Given the description of an element on the screen output the (x, y) to click on. 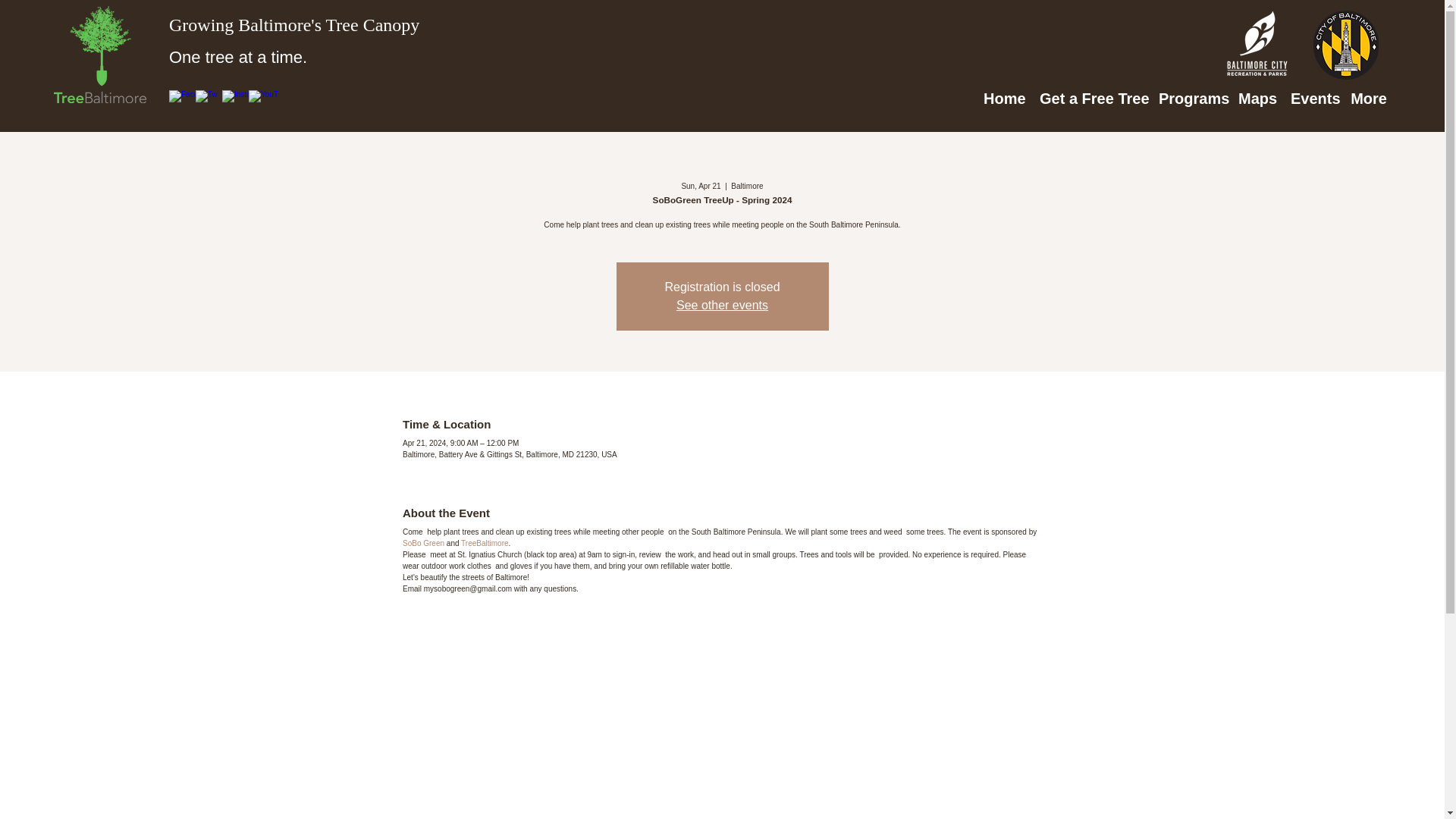
Programs (1190, 98)
TreeBaltimore (484, 542)
Events (1312, 98)
Growing Baltimore's Tree Canopy (293, 25)
Get a Free Tree (1091, 98)
Maps (1256, 98)
SoBo Green (423, 542)
Home (1003, 98)
See other events (722, 305)
